Given the description of an element on the screen output the (x, y) to click on. 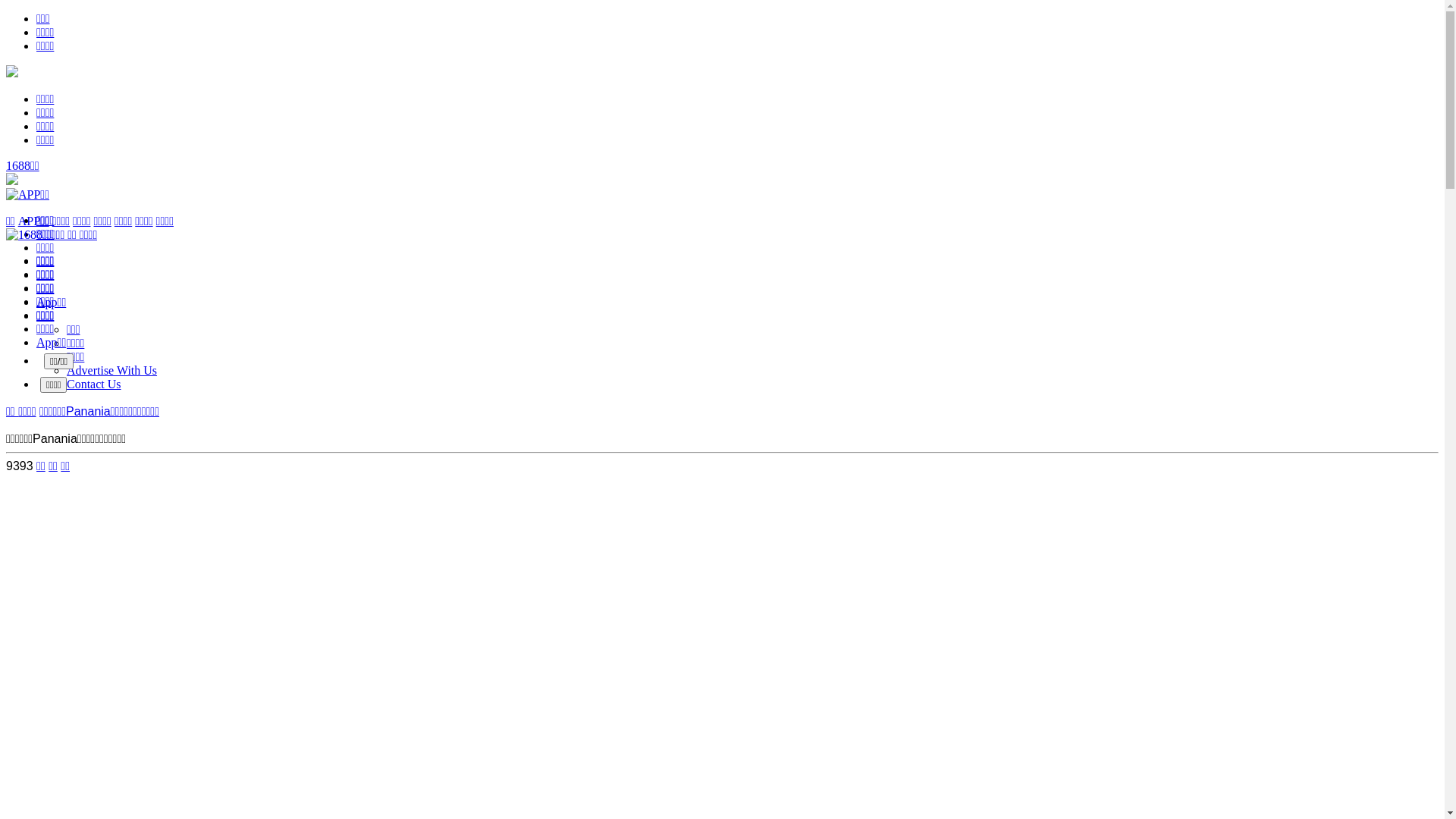
Australia Daily Element type: hover (51, 234)
Contact Us Element type: text (93, 383)
Advertise With Us Element type: text (111, 370)
